Given the description of an element on the screen output the (x, y) to click on. 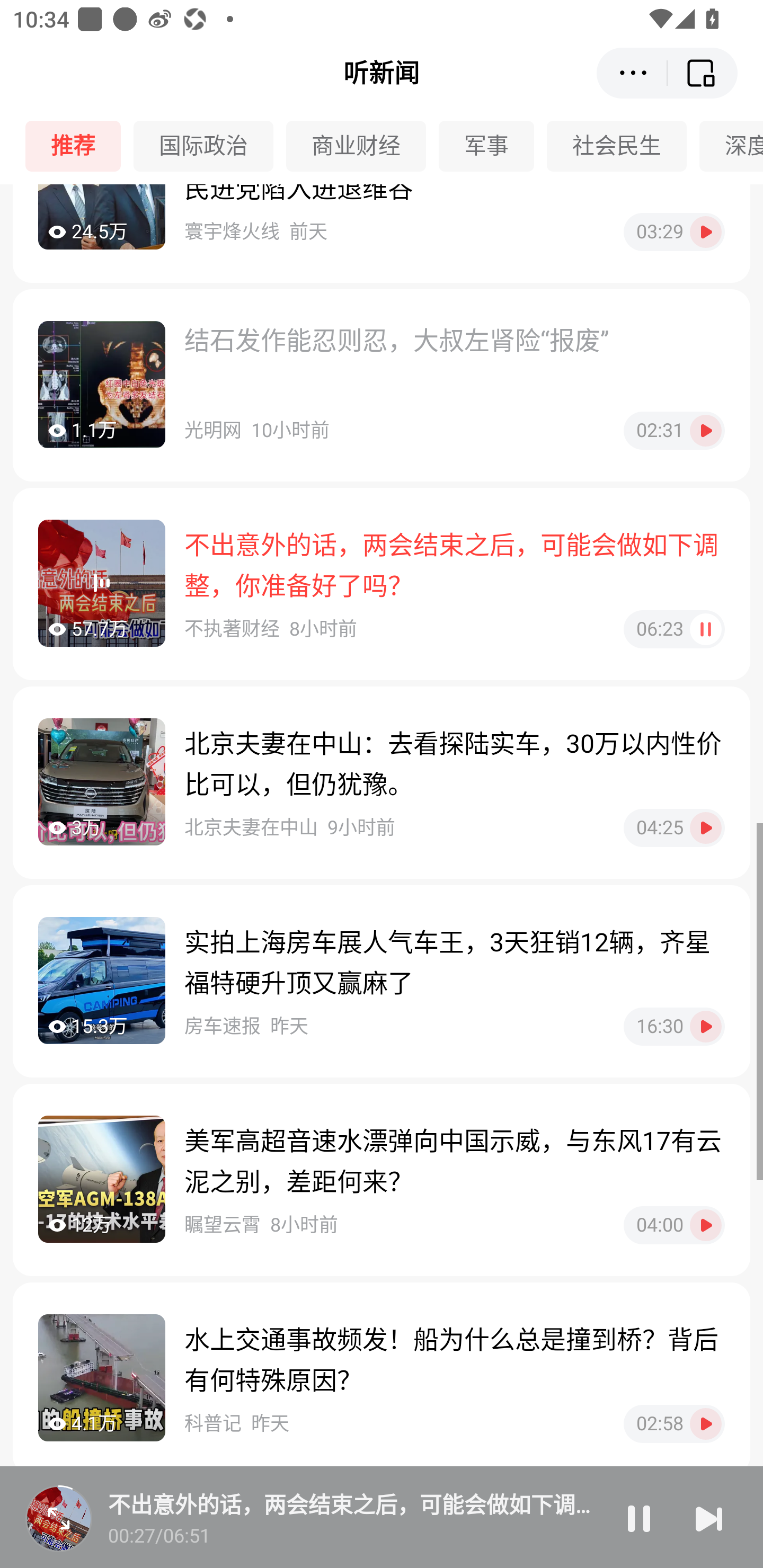
更多 (631, 72)
返回 (702, 72)
推荐 (79, 146)
国际政治 (209, 146)
商业财经 (362, 146)
军事 (492, 146)
社会民生 (623, 146)
24.5万 台岛军头跳出来，给解放军划红线，专家坦言：民进党陷入进退维谷 寰宇烽火线前天 03:29 (381, 233)
03:29 (673, 231)
1.1万 结石发作能忍则忍，大叔左肾险“报废” 光明网10小时前 02:31 (381, 384)
02:31 (673, 430)
06:24 (673, 629)
04:25 (673, 827)
15.3万 实拍上海房车展人气车王，3天狂销12辆，齐星福特硬升顶又赢麻了 房车速报昨天 16:30 (381, 981)
16:30 (673, 1026)
12万 美军高超音速水漂弹向中国示威，与东风17有云泥之别，差距何来？ 瞩望云霄8小时前 04:00 (381, 1179)
04:00 (673, 1224)
4.1万 水上交通事故频发！船为什么总是撞到桥？背后有何特殊原因？ 科普记昨天 02:58 (381, 1378)
02:58 (673, 1423)
暂停 (638, 1518)
下一篇 (708, 1518)
